Given the description of an element on the screen output the (x, y) to click on. 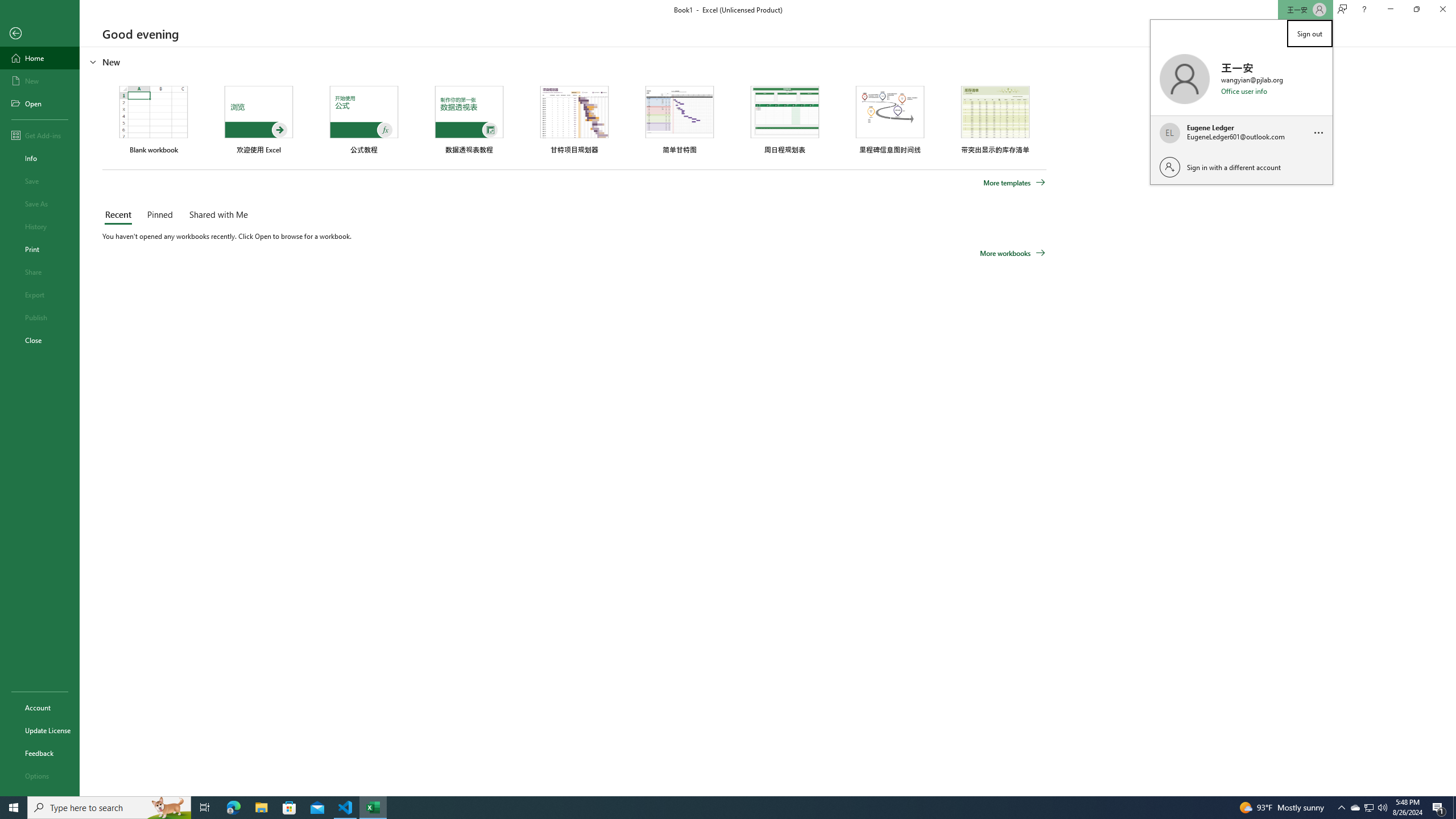
History (40, 225)
Blank workbook (153, 119)
Running applications (717, 807)
Recent (119, 215)
Shared with Me (215, 215)
Start (13, 807)
Options (40, 775)
Type here to search (108, 807)
